Given the description of an element on the screen output the (x, y) to click on. 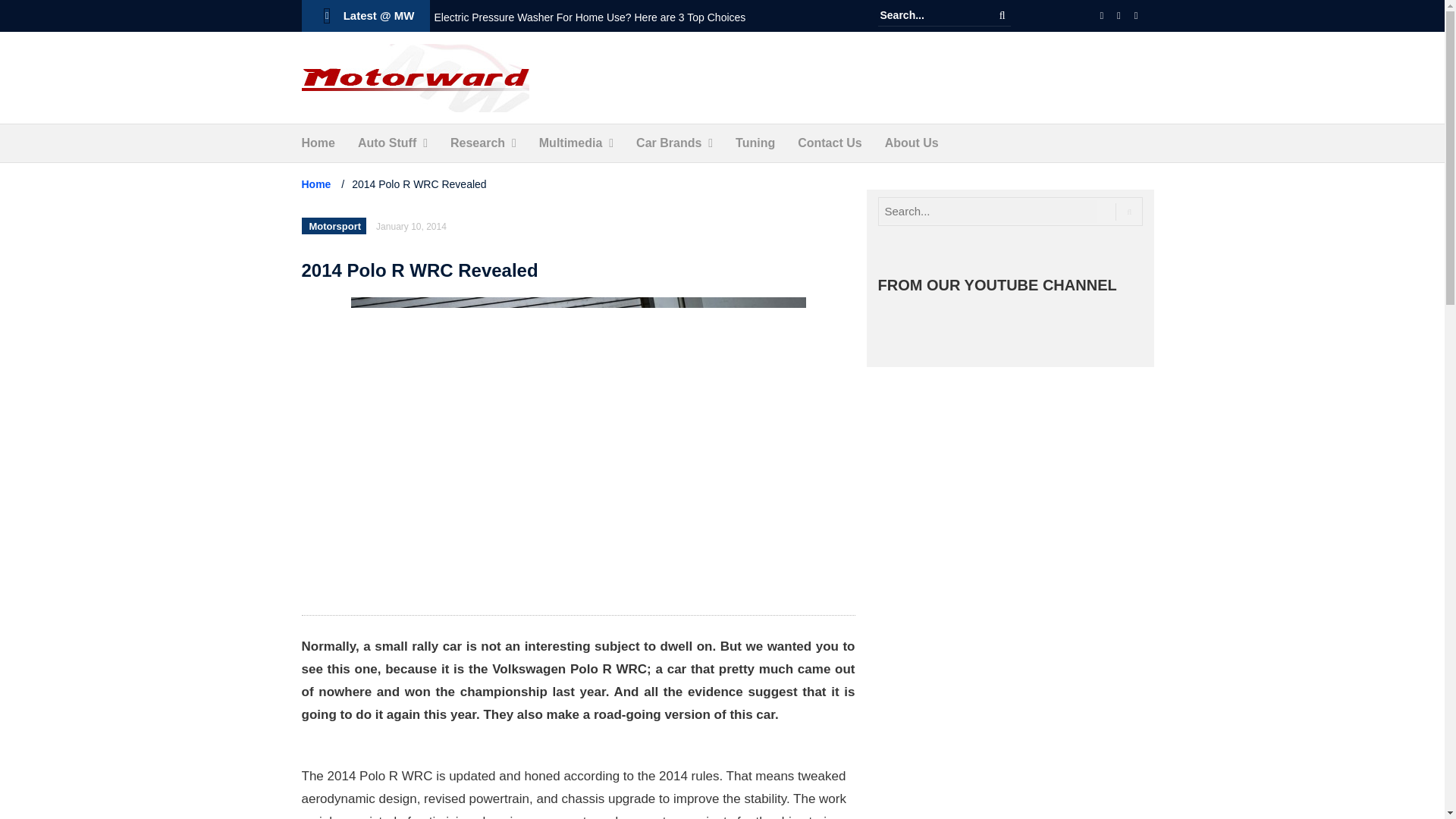
Search   (1002, 14)
Research (477, 143)
Multimedia (570, 143)
Car Brands (668, 143)
Home (317, 143)
Auto Stuff (387, 143)
